Given the description of an element on the screen output the (x, y) to click on. 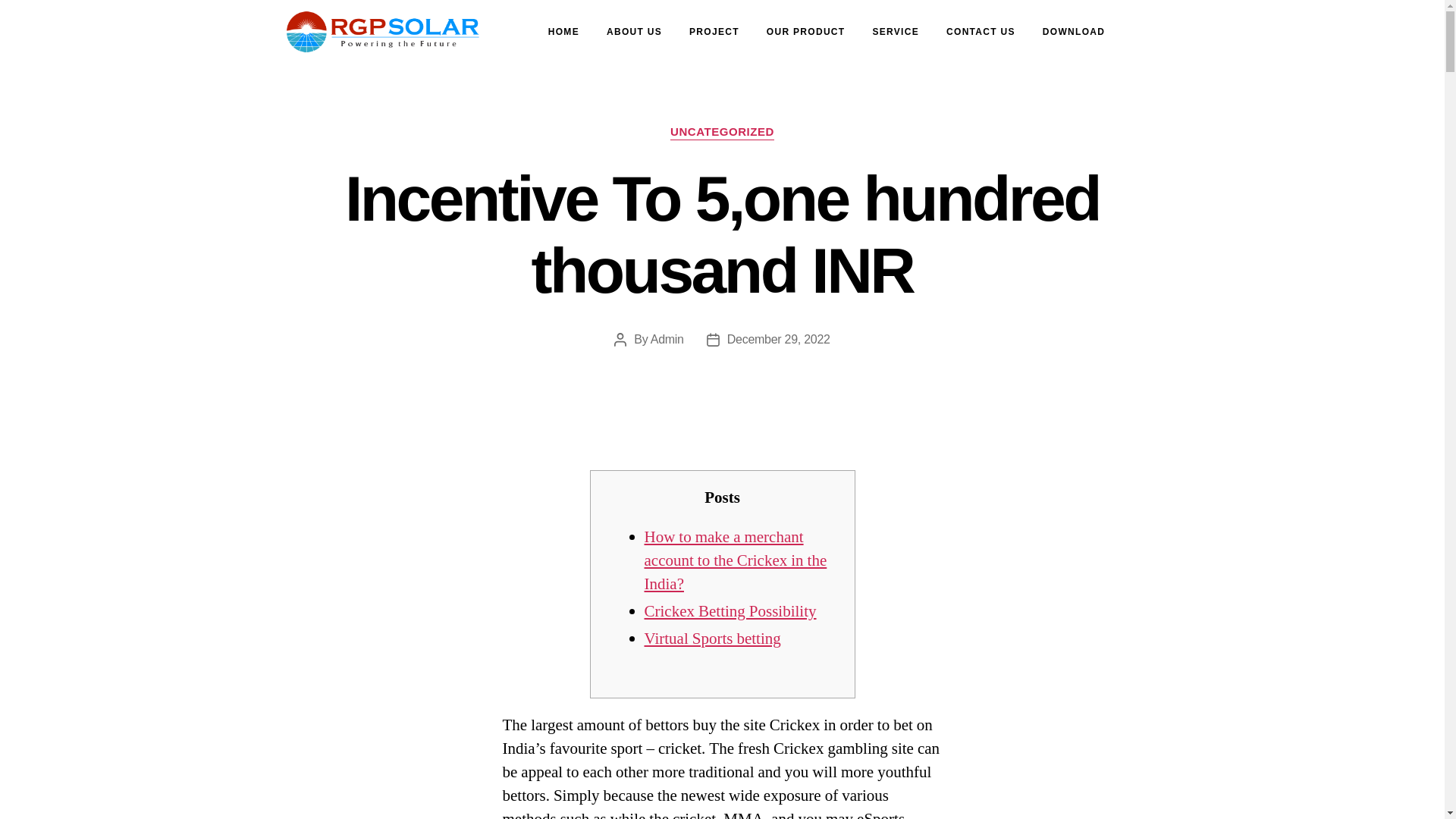
UNCATEGORIZED (721, 132)
December 29, 2022 (777, 338)
SERVICE (896, 31)
Admin (667, 338)
ABOUT US (633, 31)
OUR PRODUCT (805, 31)
How to make a merchant account to the Crickex in the India? (736, 560)
Virtual Sports betting (712, 638)
CONTACT US (981, 31)
Crickex Betting Possibility (730, 611)
PROJECT (713, 31)
DOWNLOAD (1073, 31)
HOME (563, 31)
